Given the description of an element on the screen output the (x, y) to click on. 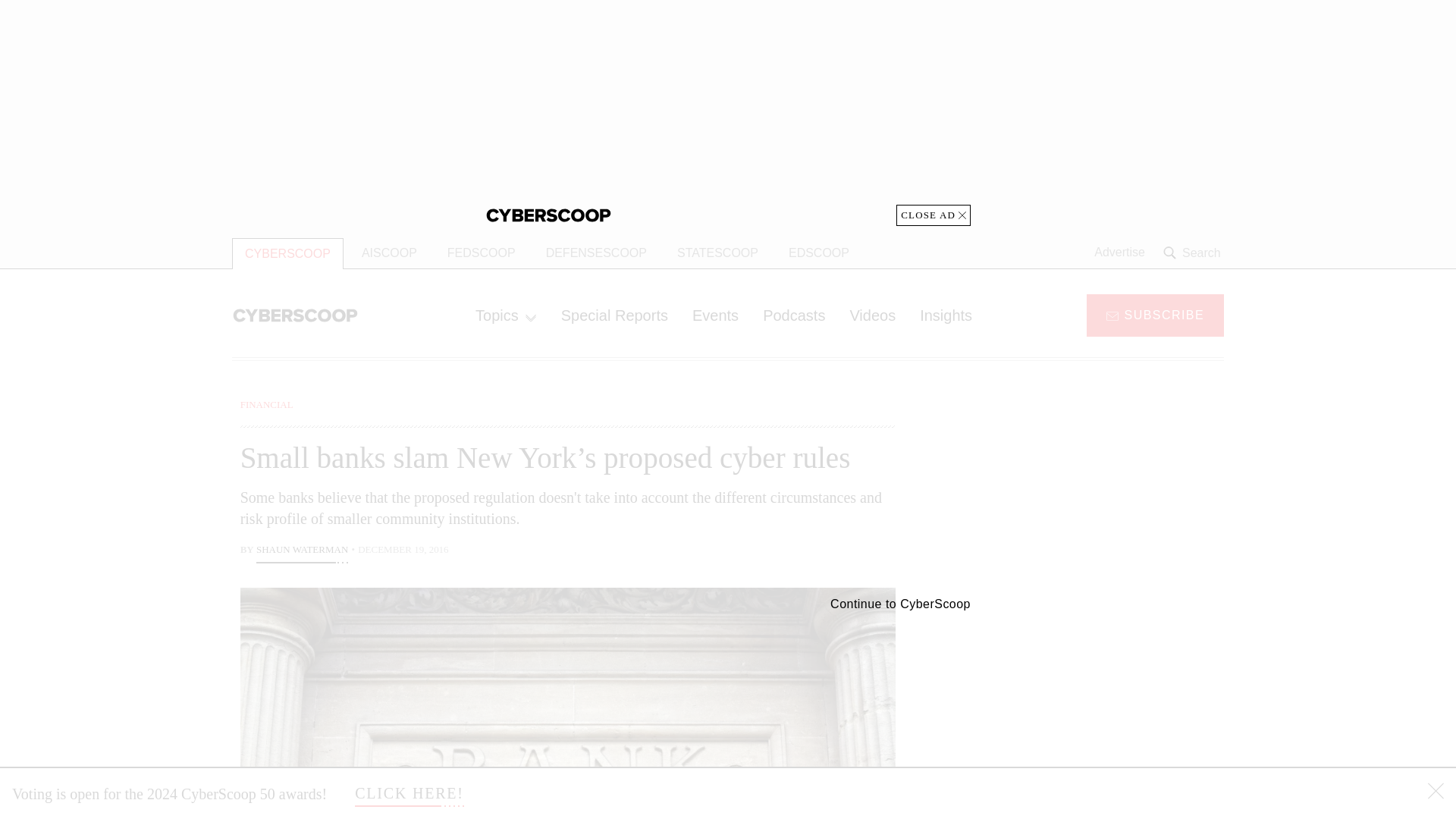
CLICK HERE! (409, 793)
Special Reports (613, 315)
Search (1193, 252)
DEFENSESCOOP (596, 253)
3rd party ad content (1101, 705)
Insights (945, 315)
Events (715, 315)
SUBSCRIBE (1155, 314)
STATESCOOP (717, 253)
Advertise (1119, 252)
Shaun Waterman (301, 550)
Podcasts (794, 315)
CYBERSCOOP (287, 253)
3rd party ad content (1101, 492)
